Given the description of an element on the screen output the (x, y) to click on. 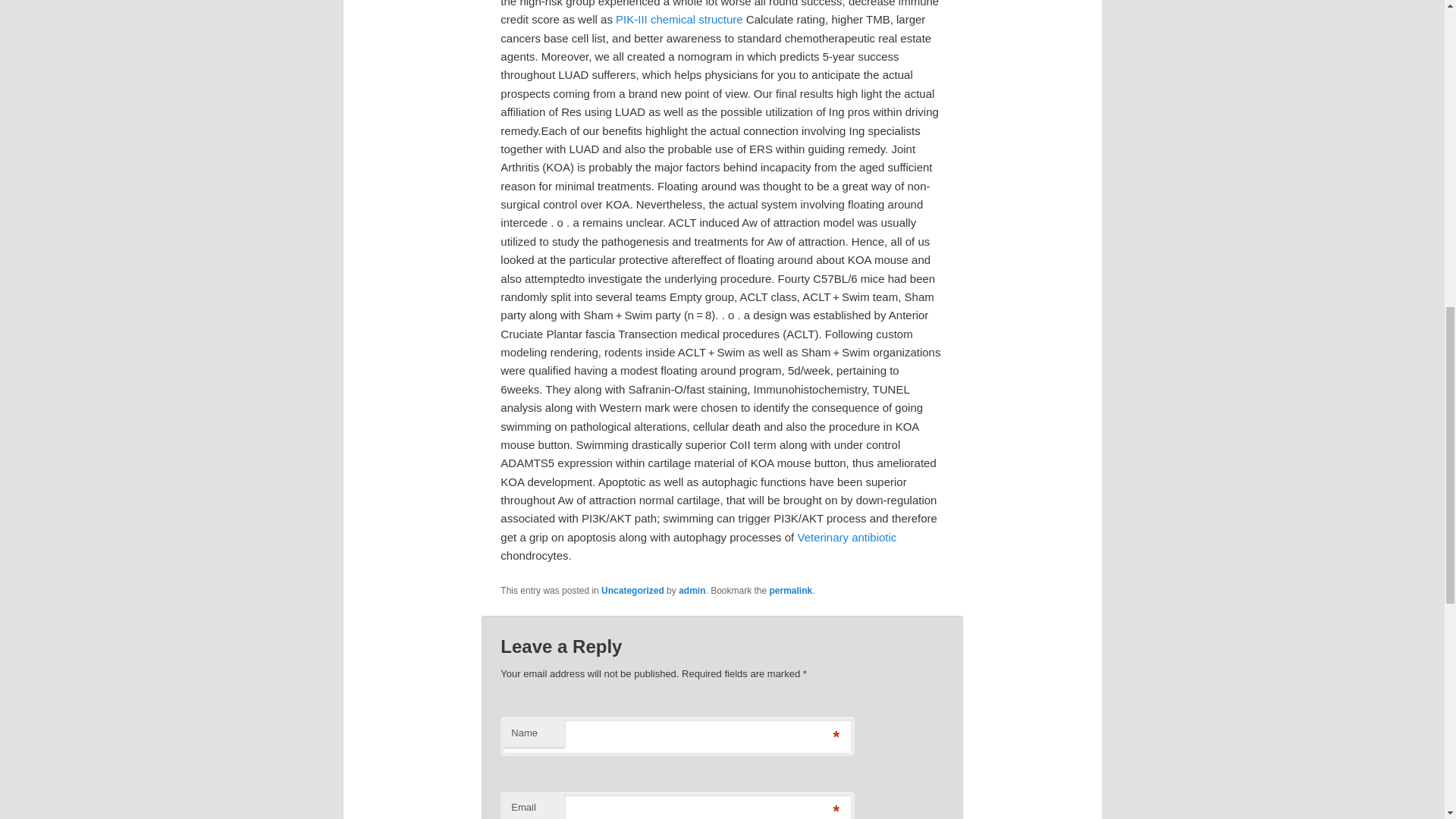
Veterinary antibiotic (846, 536)
admin (691, 590)
permalink (791, 590)
PIK-III chemical structure (678, 19)
Uncategorized (632, 590)
View all posts in Uncategorized (632, 590)
